Given the description of an element on the screen output the (x, y) to click on. 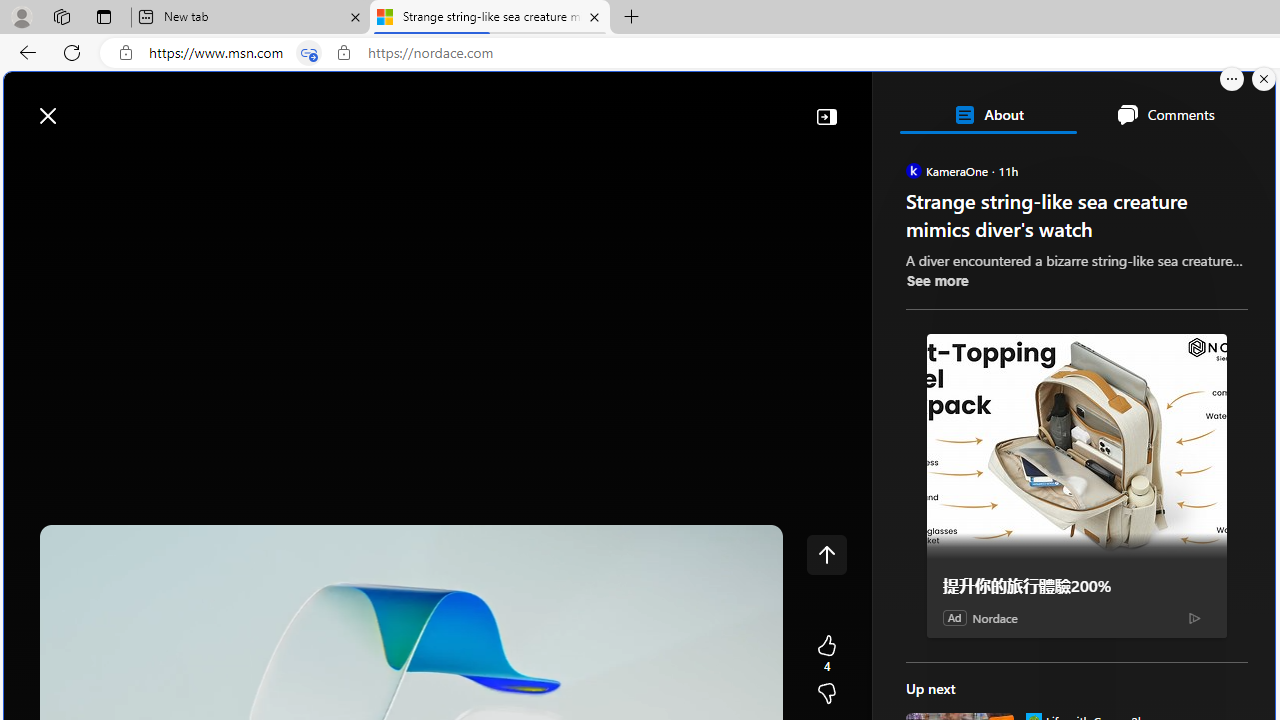
Ad (954, 617)
Web search (283, 105)
Open Copilot (995, 105)
Open Copilot (995, 105)
Class: button-glyph (29, 162)
View site information (343, 53)
Strange string-like sea creature mimics diver's watch (490, 17)
Personalize (1195, 162)
Nordace (994, 617)
Class: control icon-only (826, 554)
